Given the description of an element on the screen output the (x, y) to click on. 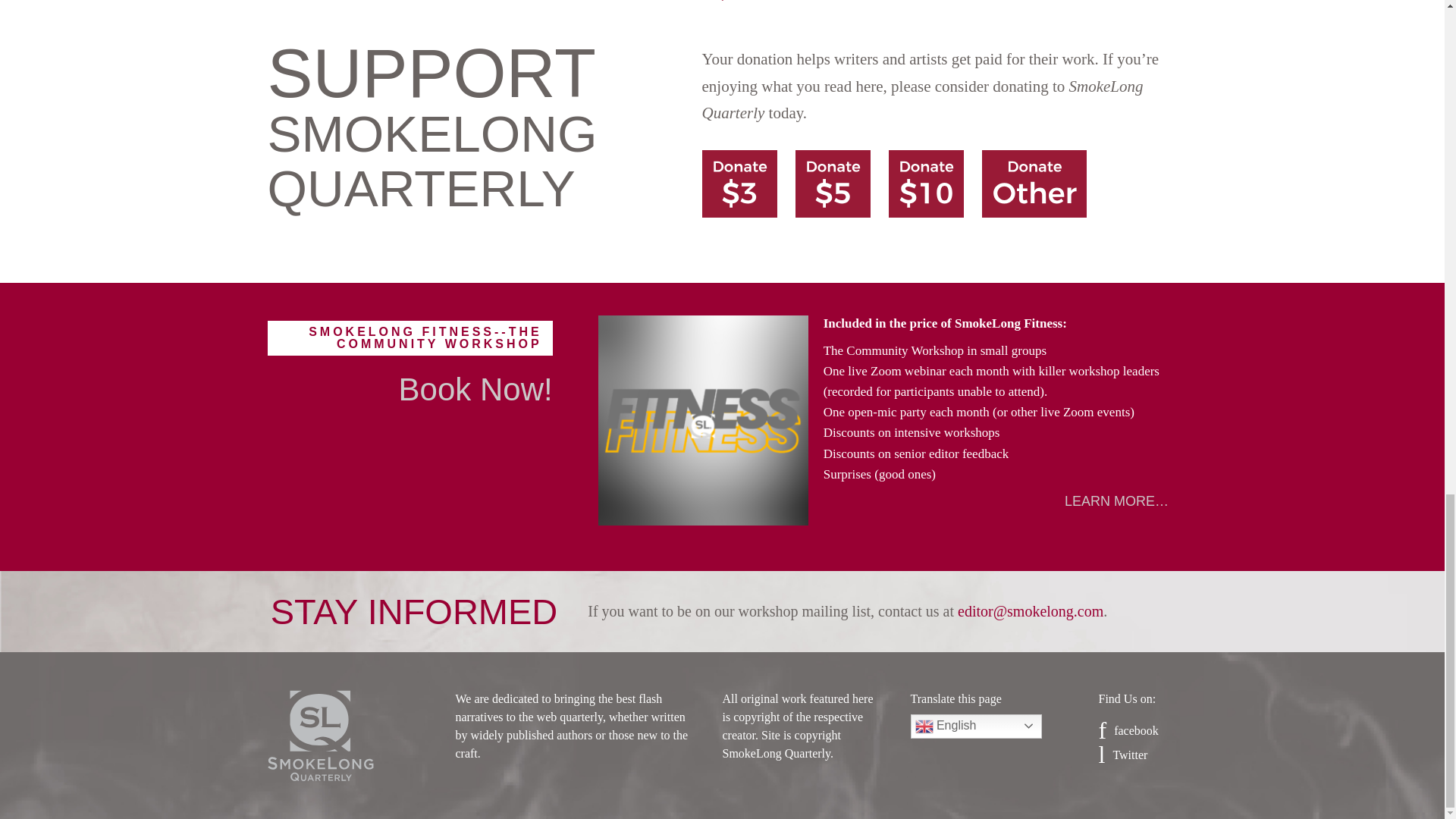
PayPal - The safer, easier way to pay online! (1033, 183)
PayPal - The safer, easier way to pay online! (832, 183)
PayPal - The safer, easier way to pay online! (739, 183)
PayPal - The safer, easier way to pay online! (925, 183)
